Given the description of an element on the screen output the (x, y) to click on. 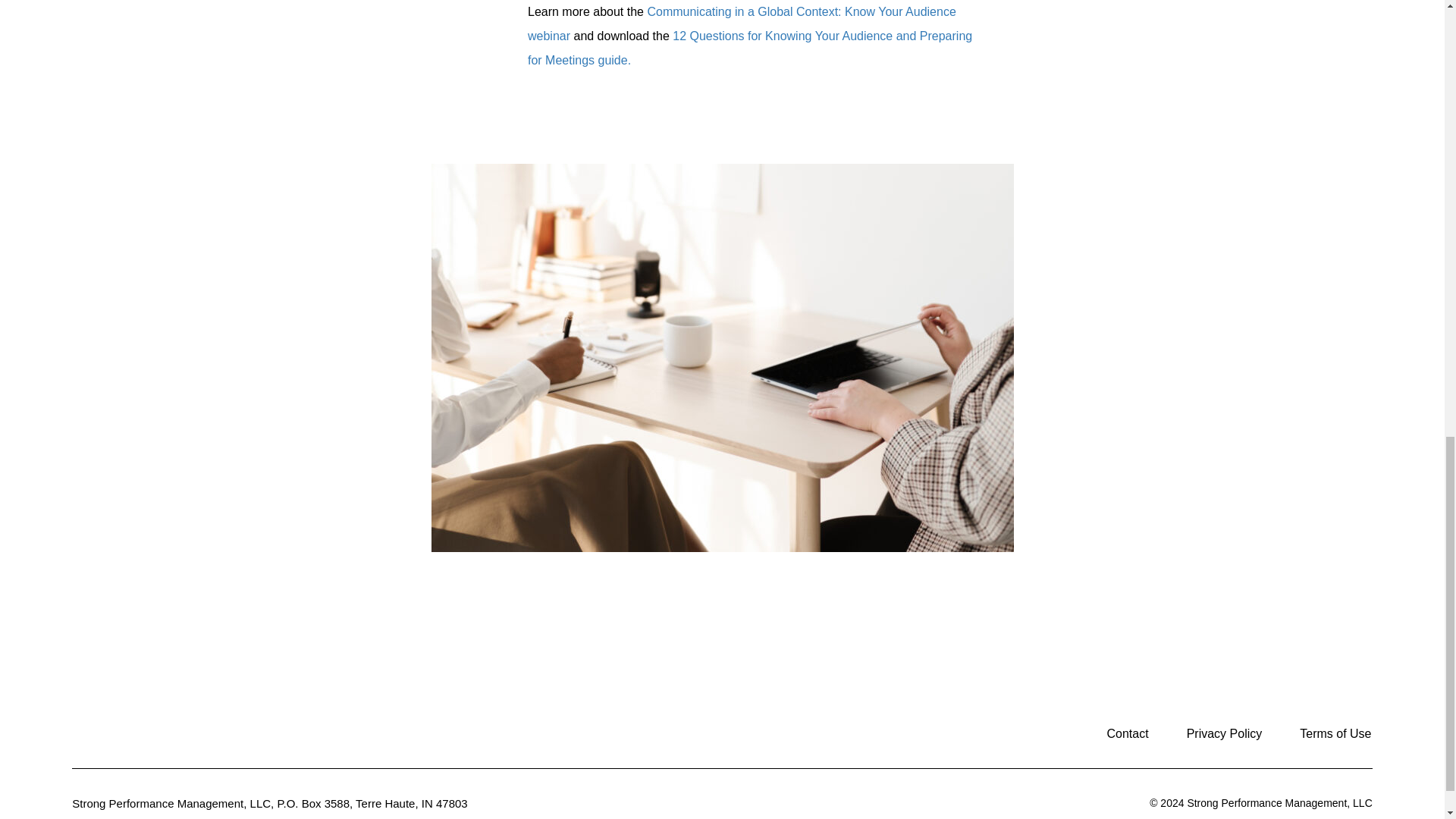
Privacy Policy (1224, 734)
Contact (1127, 734)
